Given the description of an element on the screen output the (x, y) to click on. 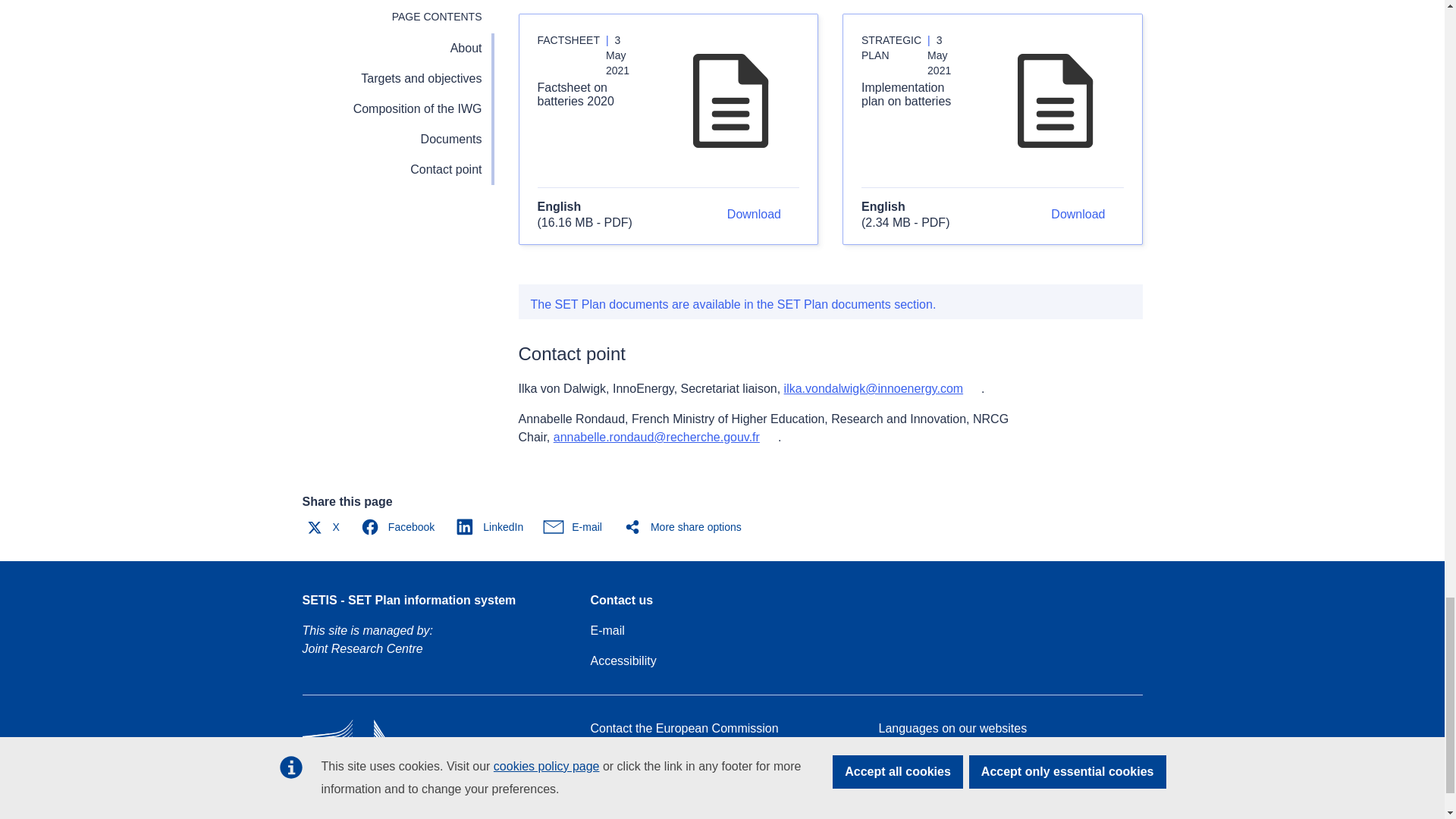
European Commission (411, 769)
